Given the description of an element on the screen output the (x, y) to click on. 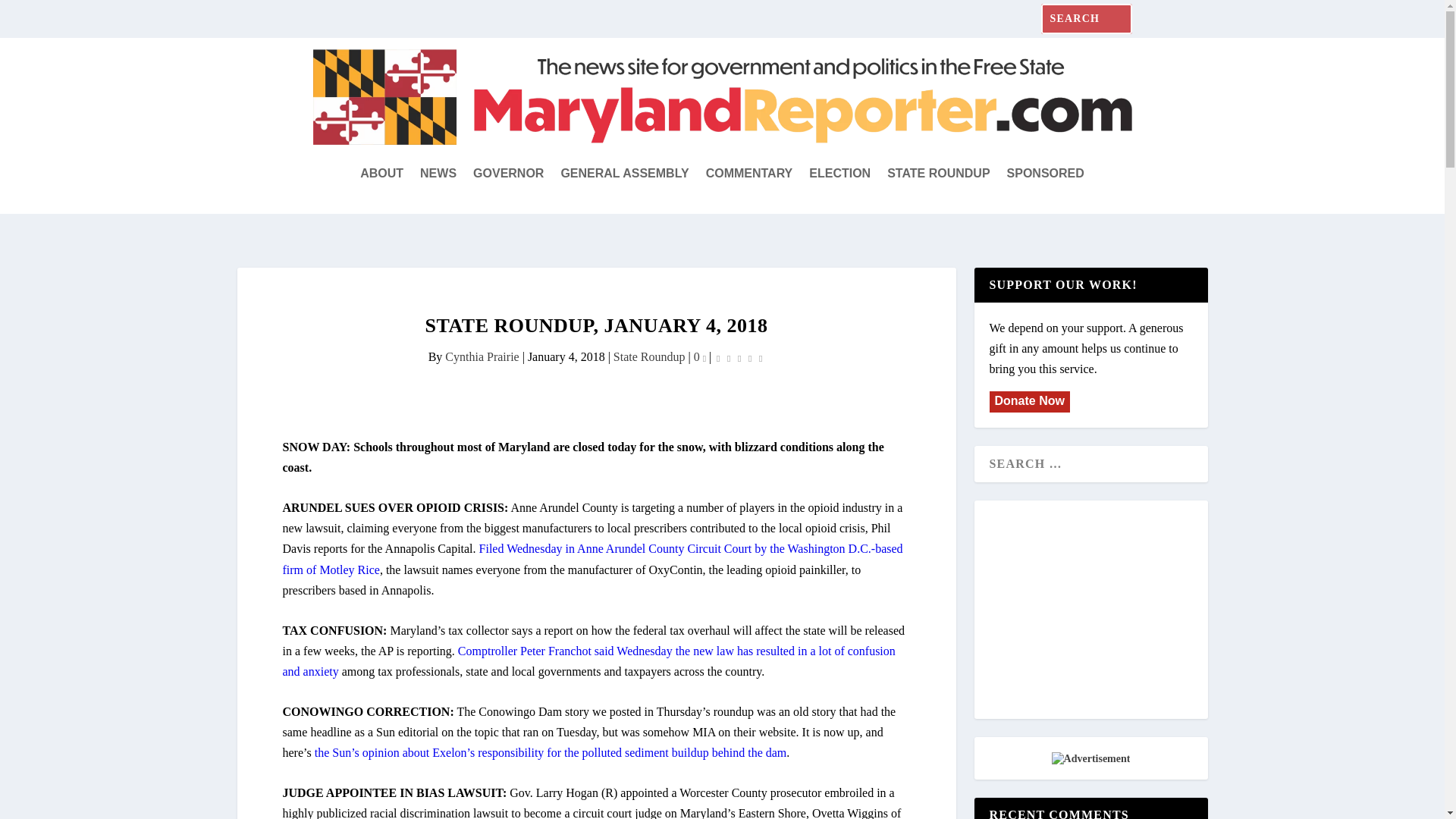
SPONSORED (1045, 173)
GENERAL ASSEMBLY (624, 173)
ELECTION (839, 173)
GOVERNOR (508, 173)
0 (700, 356)
STATE ROUNDUP (938, 173)
COMMENTARY (749, 173)
Cynthia Prairie (481, 356)
Rating: 0.00 (739, 357)
Search (29, 15)
State Roundup (648, 356)
Posts by Cynthia Prairie (481, 356)
